Given the description of an element on the screen output the (x, y) to click on. 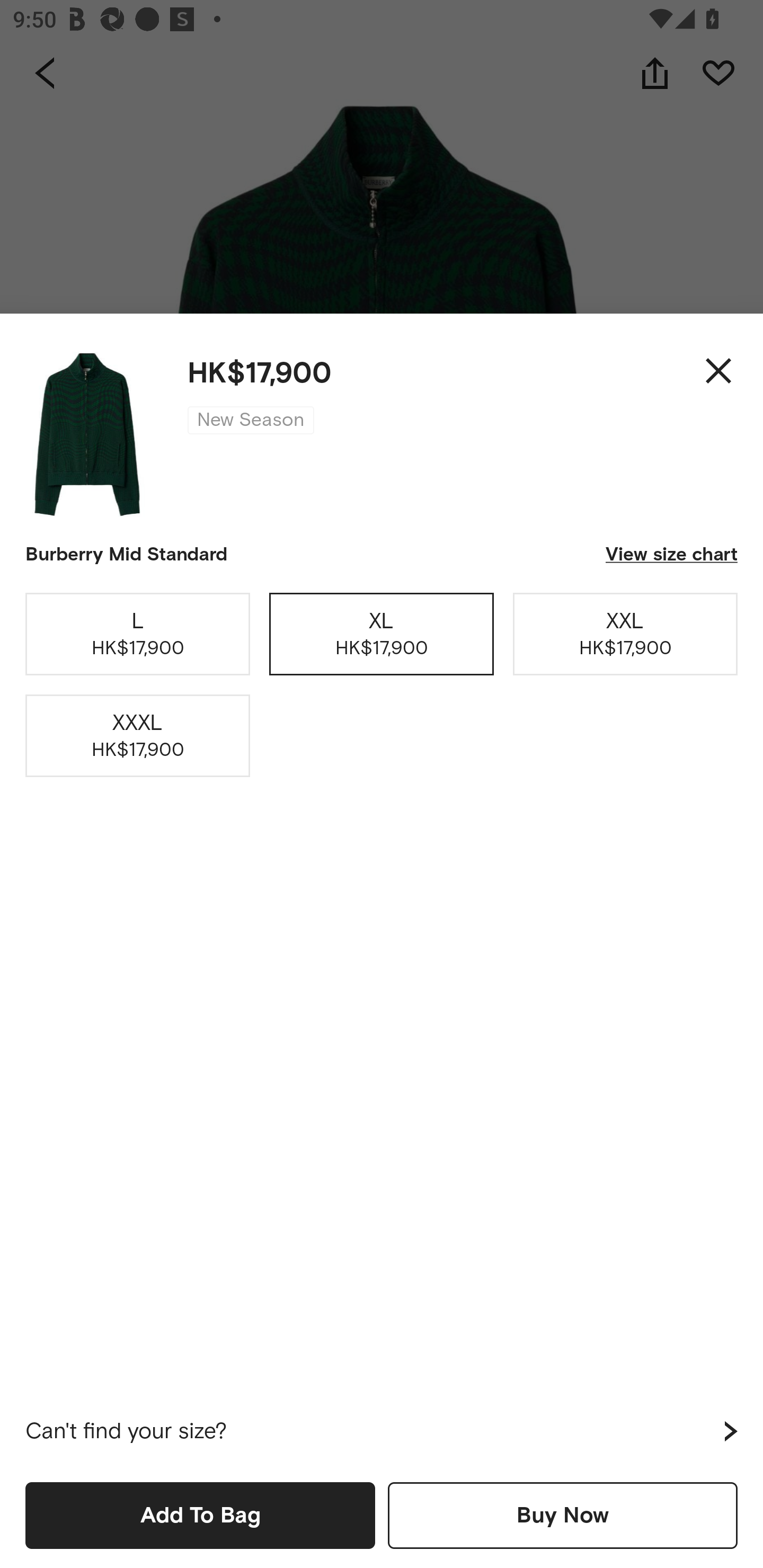
L HK$17,900 (137, 633)
XL HK$17,900 (381, 633)
XXL HK$17,900 (624, 633)
XXXL HK$17,900 (137, 735)
Can't find your size? (381, 1431)
Add To Bag (200, 1515)
Buy Now (562, 1515)
